Given the description of an element on the screen output the (x, y) to click on. 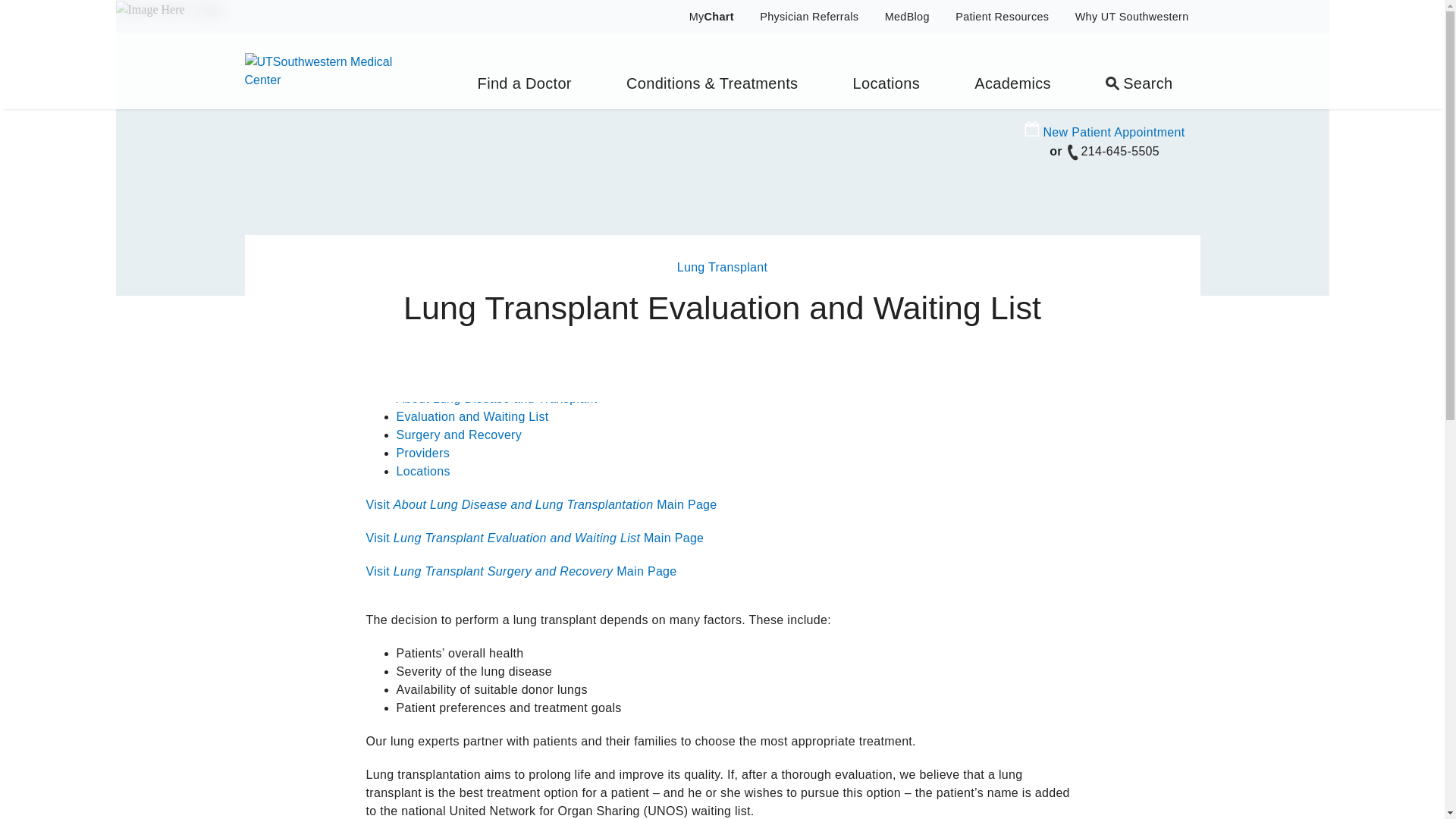
Visit the homepage (331, 69)
MedBlog (906, 17)
Find a Doctor (523, 70)
Section Homepage (450, 379)
Search (1138, 70)
MyChart (702, 17)
Why UT Southwestern (1131, 17)
or Call214-645-5505 (1103, 151)
Lung Transplant (722, 267)
Appointment (1032, 128)
Locations (886, 70)
Patient Resources (1001, 17)
Explore Lung Transplant (436, 342)
Academics (1012, 70)
Appointment New Patient Appointment (1105, 132)
